Given the description of an element on the screen output the (x, y) to click on. 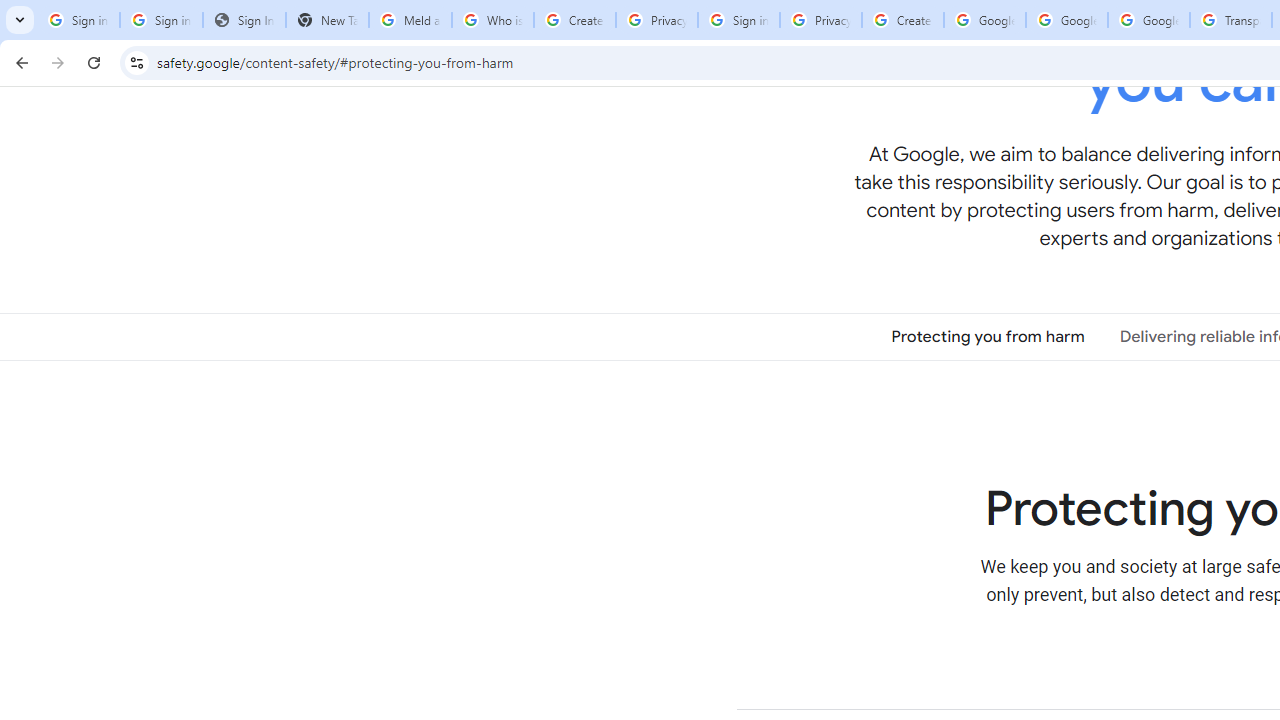
Protecting you from harm (987, 336)
